Given the description of an element on the screen output the (x, y) to click on. 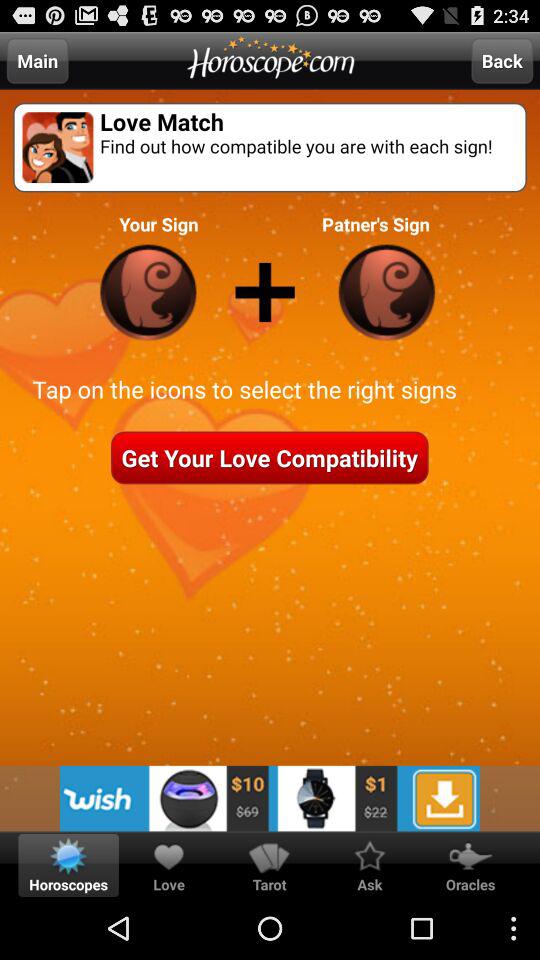
advertising bar (270, 798)
